Given the description of an element on the screen output the (x, y) to click on. 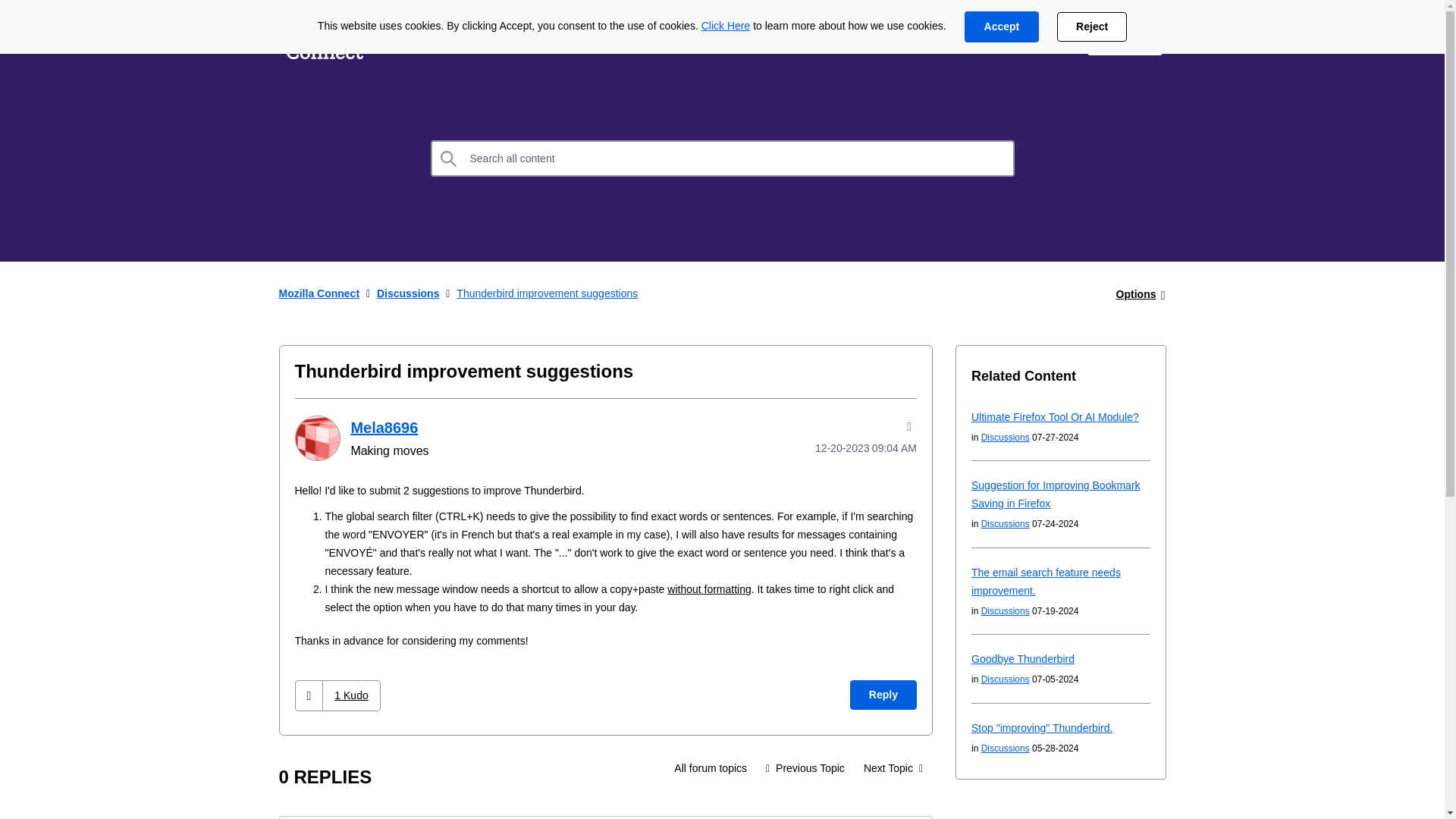
Trash status (893, 767)
Ideas (411, 39)
Mela8696 (383, 427)
Reply (883, 695)
Support (1040, 39)
Search (448, 158)
Mela8696 (316, 438)
Sign In (1124, 39)
Search (448, 158)
